Given the description of an element on the screen output the (x, y) to click on. 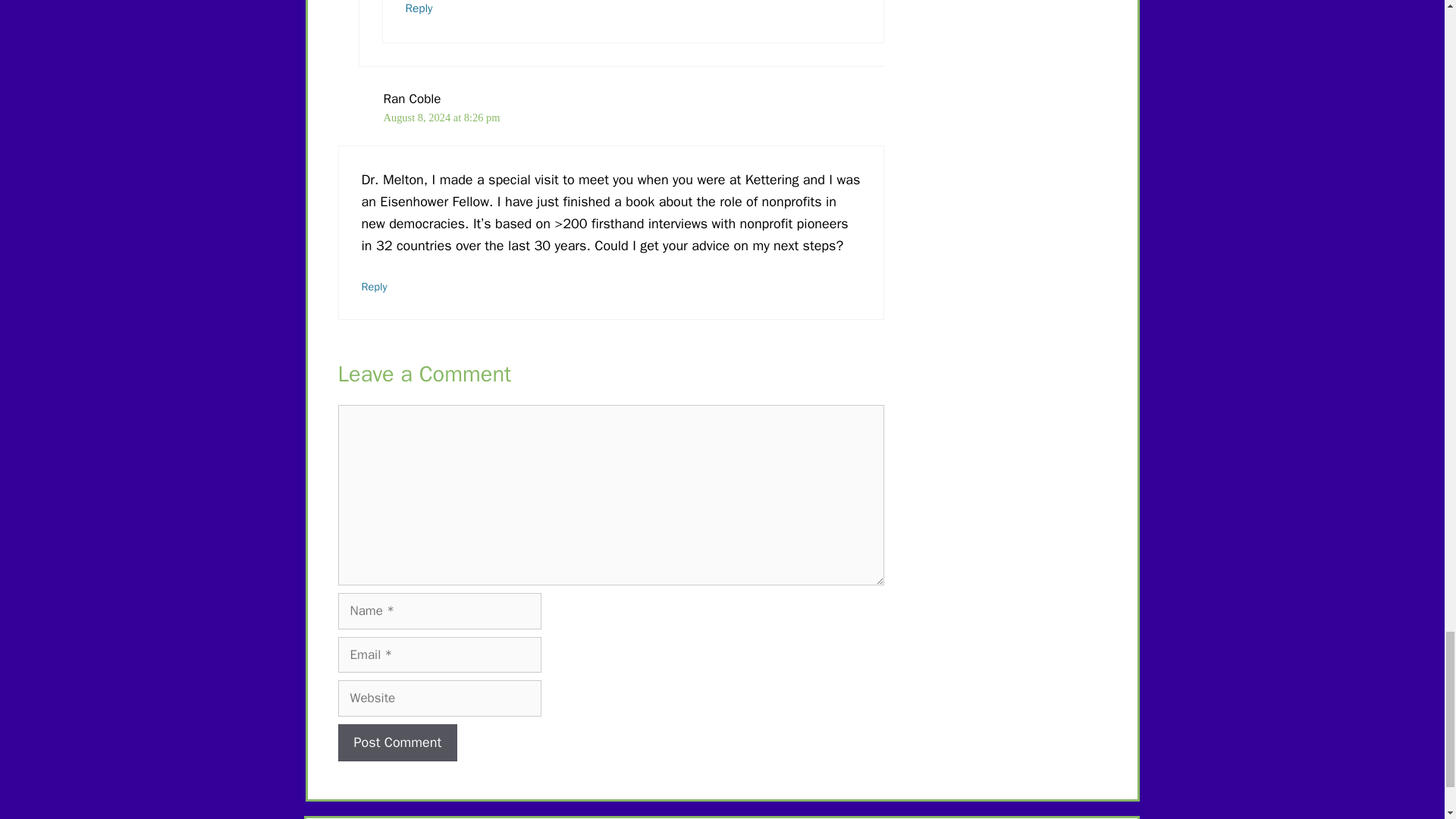
August 8, 2024 at 8:26 pm (442, 117)
Post Comment (397, 742)
Reply (374, 286)
Reply (418, 7)
Post Comment (397, 742)
